Given the description of an element on the screen output the (x, y) to click on. 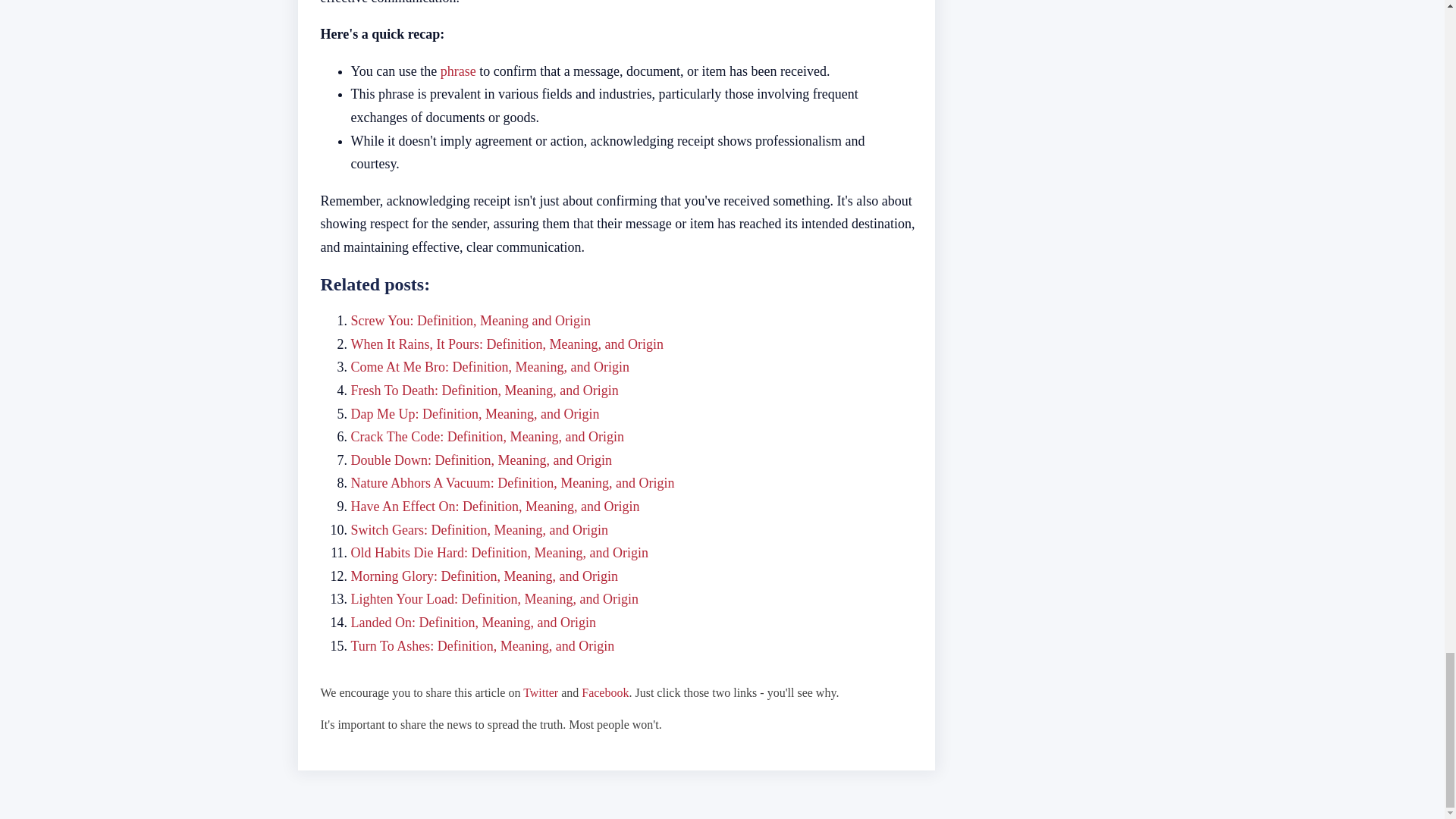
Have An Effect On: Definition, Meaning, and Origin (494, 506)
Morning Glory: Definition, Meaning, and Origin (483, 575)
Crack The Code: Definition, Meaning, and Origin (487, 436)
Fresh To Death: Definition, Meaning, and Origin (483, 390)
Switch Gears: Definition, Meaning, and Origin (478, 529)
Come At Me Bro: Definition, Meaning, and Origin (489, 366)
Dap Me Up: Definition, Meaning, and Origin (474, 413)
When It Rains, It Pours: Definition, Meaning, and Origin (506, 344)
Switch Gears: Definition, Meaning, and Origin (478, 529)
Fresh To Death: Definition, Meaning, and Origin (483, 390)
